Given the description of an element on the screen output the (x, y) to click on. 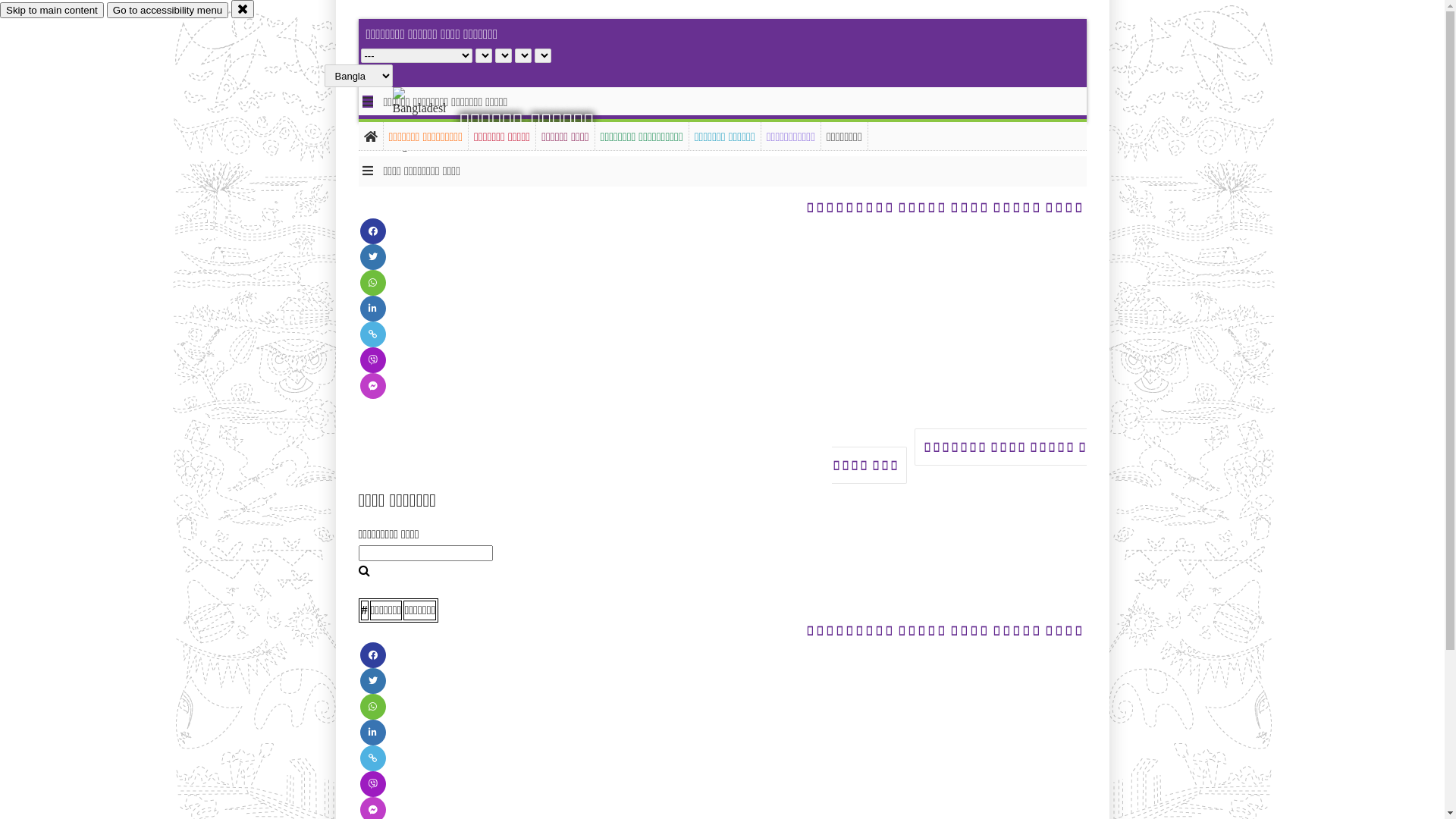
close Element type: hover (242, 9)

                
             Element type: hover (431, 120)
Skip to main content Element type: text (51, 10)
Go to accessibility menu Element type: text (167, 10)
